Given the description of an element on the screen output the (x, y) to click on. 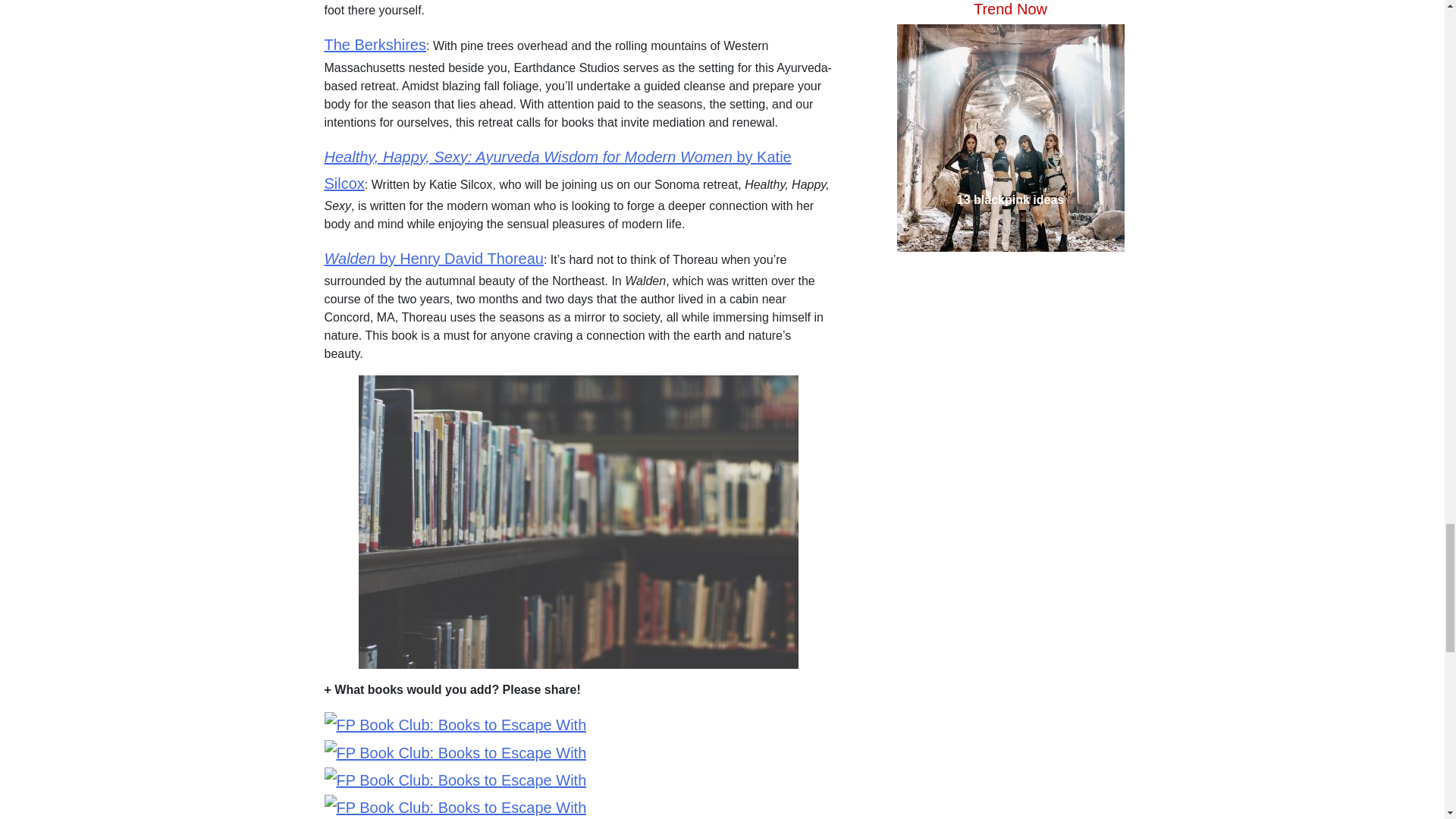
FP Book Club: Books to Escape With (455, 780)
FP Book Club: Books to Escape With (455, 753)
FP Book Club: Books to Escape With (455, 806)
The Berkshires (375, 44)
Walden by Henry David Thoreau (433, 258)
FP Book Club: Books to Escape With (455, 724)
